Given the description of an element on the screen output the (x, y) to click on. 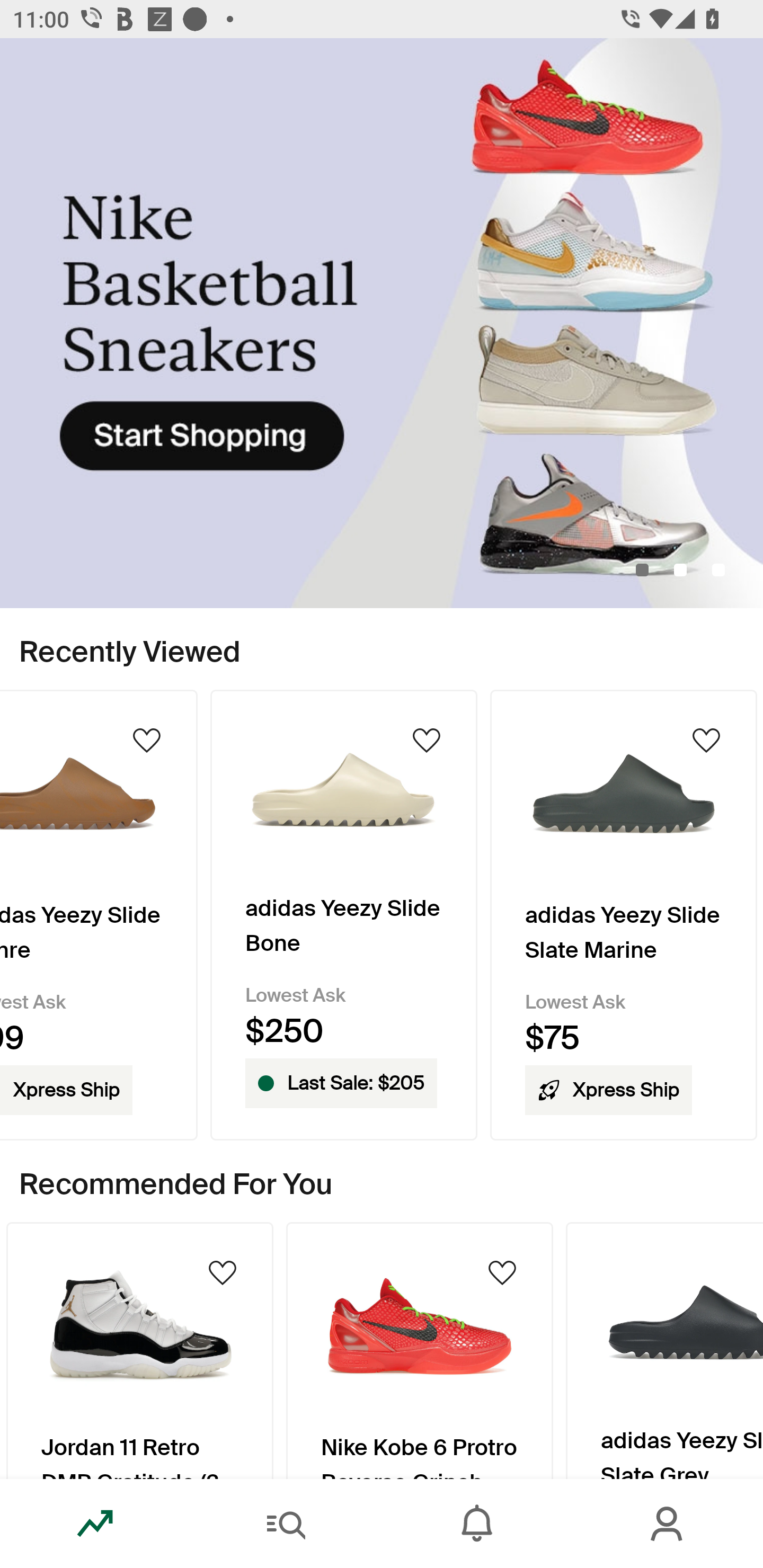
NikeBasketballSprint_Followup_Primary_Mobile.jpg (381, 322)
Product Image Jordan 11 Retro DMP Gratitude (2023) (139, 1349)
Product Image Nike Kobe 6 Protro Reverse Grinch (419, 1349)
Product Image adidas Yeezy Slide Slate Grey (664, 1349)
Search (285, 1523)
Inbox (476, 1523)
Account (667, 1523)
